Given the description of an element on the screen output the (x, y) to click on. 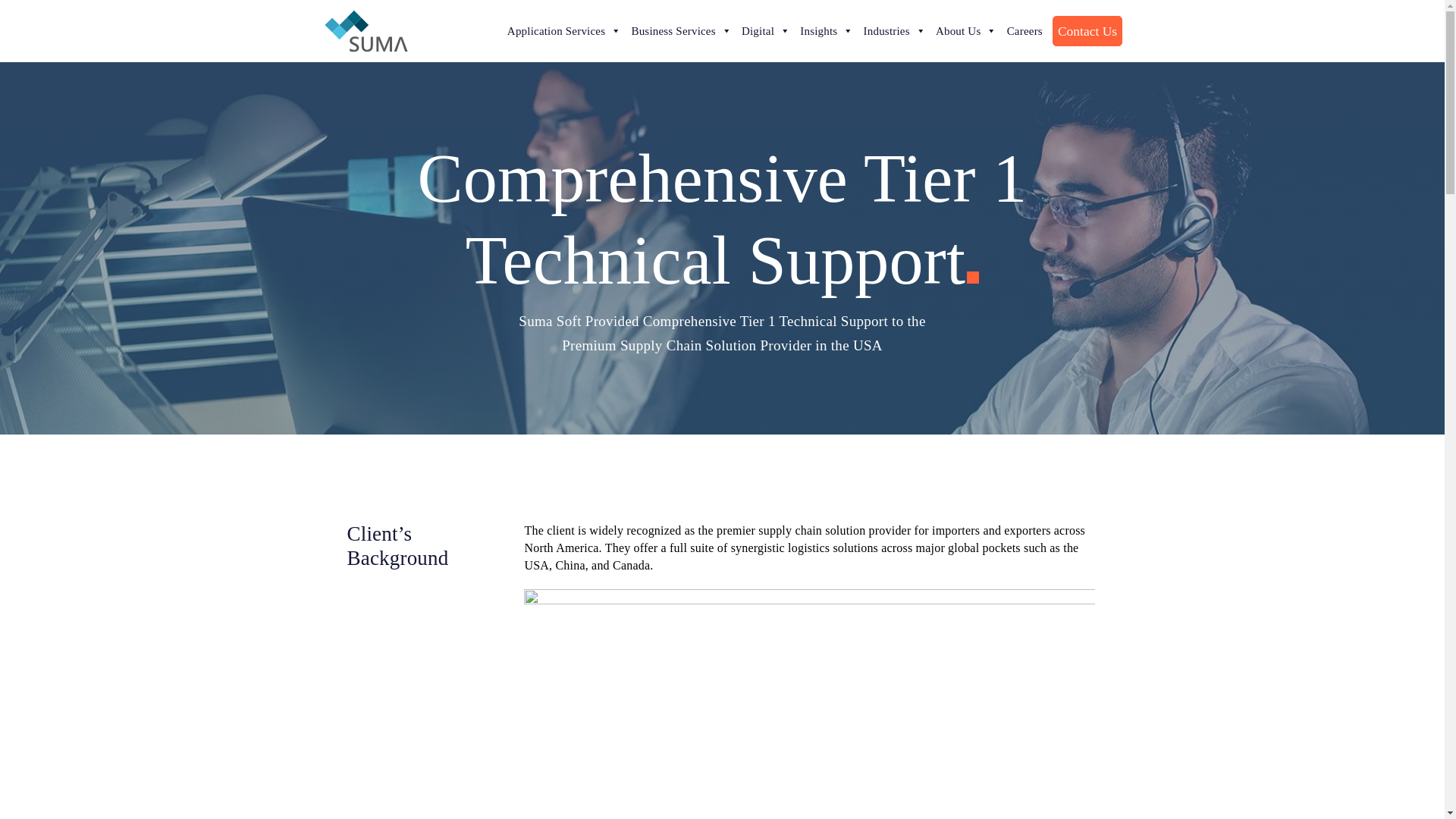
Application Services (563, 30)
